Given the description of an element on the screen output the (x, y) to click on. 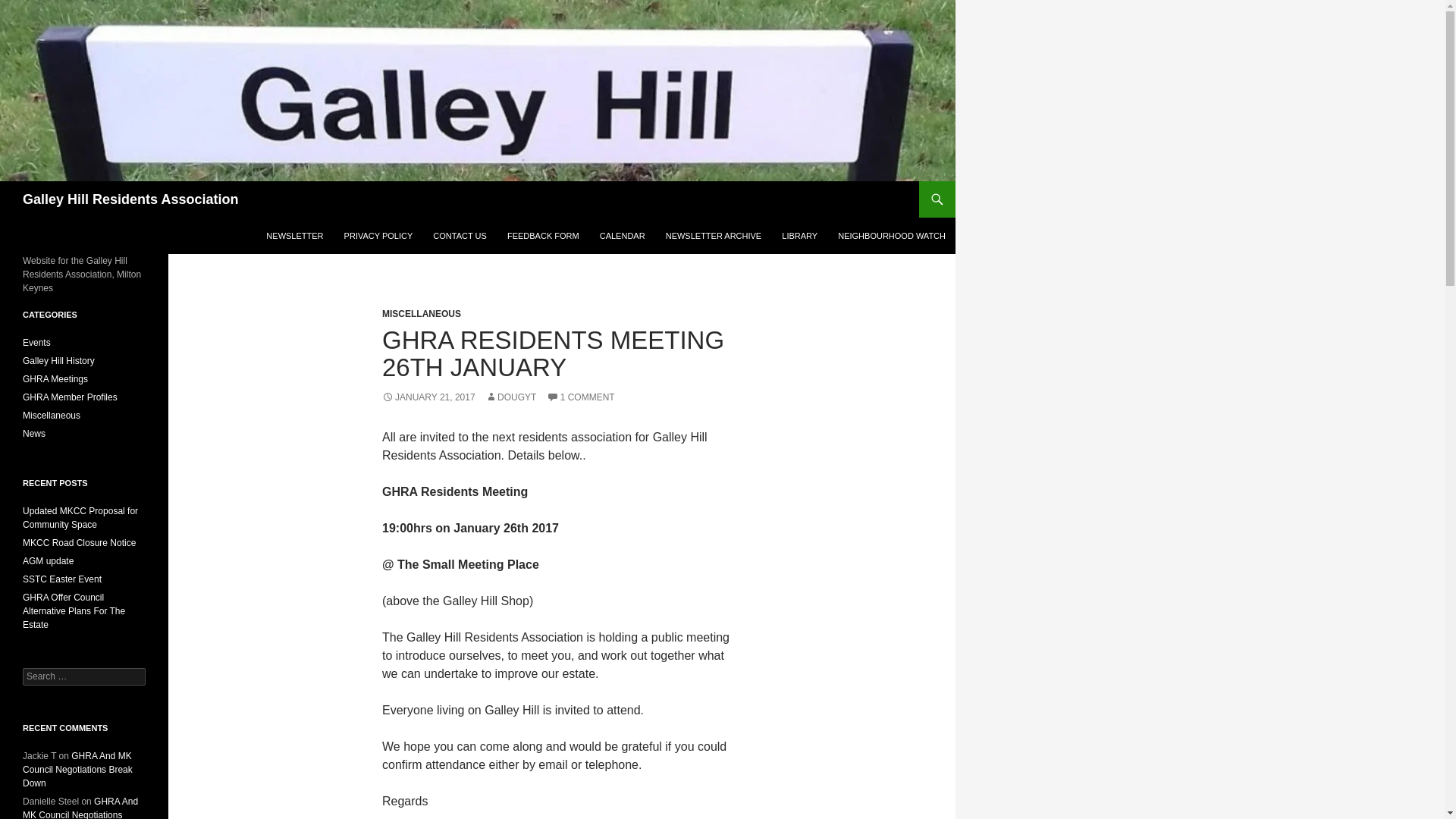
Galley Hill History (58, 360)
FEEDBACK FORM (542, 235)
Updated MKCC Proposal for Community Space (80, 517)
News (34, 433)
GHRA Meetings (55, 378)
GHRA And MK Council Negotiations Break Down (80, 807)
GHRA Offer Council Alternative Plans For The Estate (74, 610)
DOUGYT (509, 397)
AGM update (48, 561)
1 COMMENT (580, 397)
JANUARY 21, 2017 (428, 397)
NEIGHBOURHOOD WATCH (891, 235)
LIBRARY (800, 235)
